Given the description of an element on the screen output the (x, y) to click on. 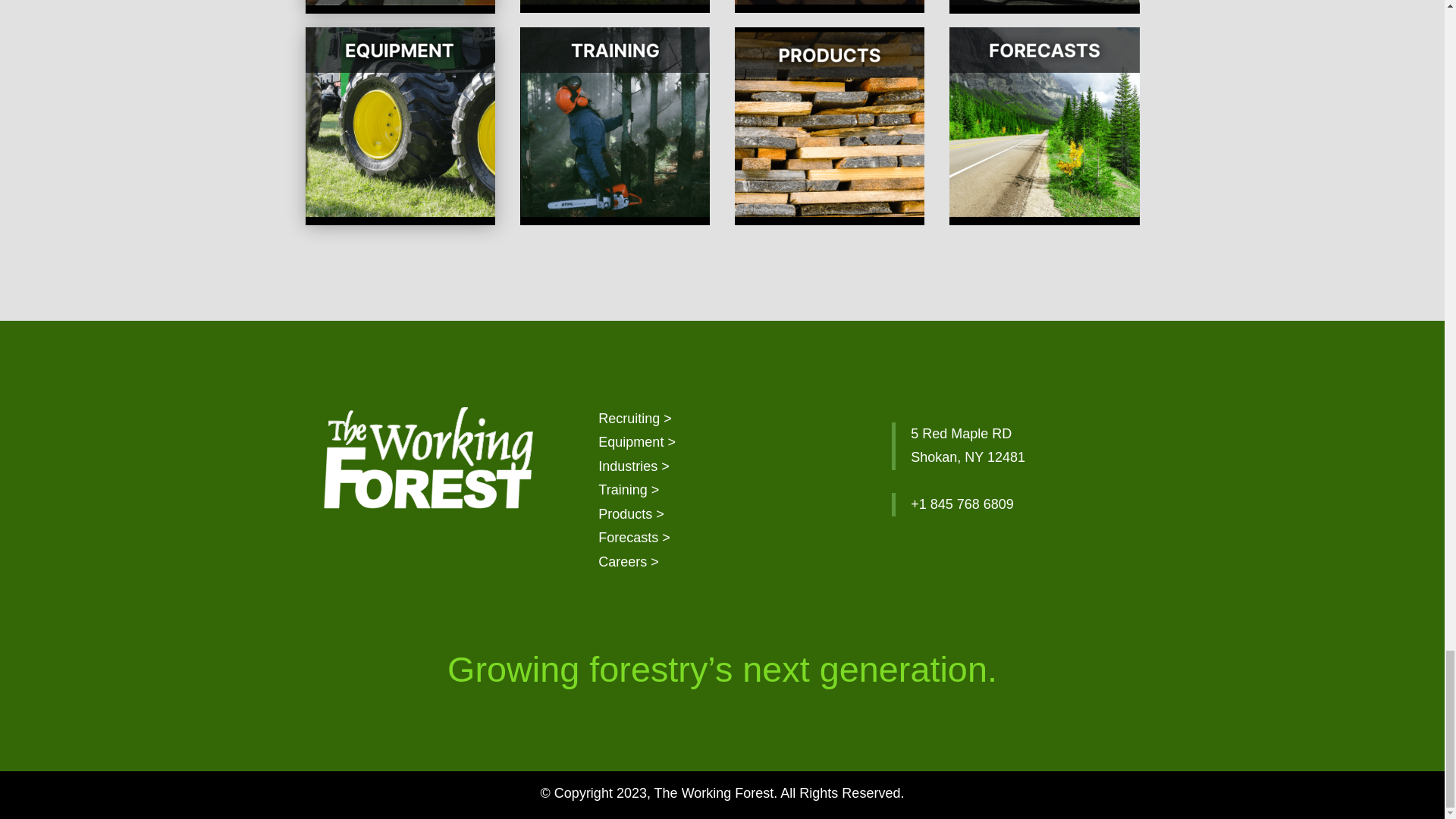
Forcasts (633, 537)
Products (630, 513)
Recruiting Information (634, 418)
Training Information (628, 489)
Career Information (628, 561)
Equipment Information (636, 441)
Industries (633, 466)
